Given the description of an element on the screen output the (x, y) to click on. 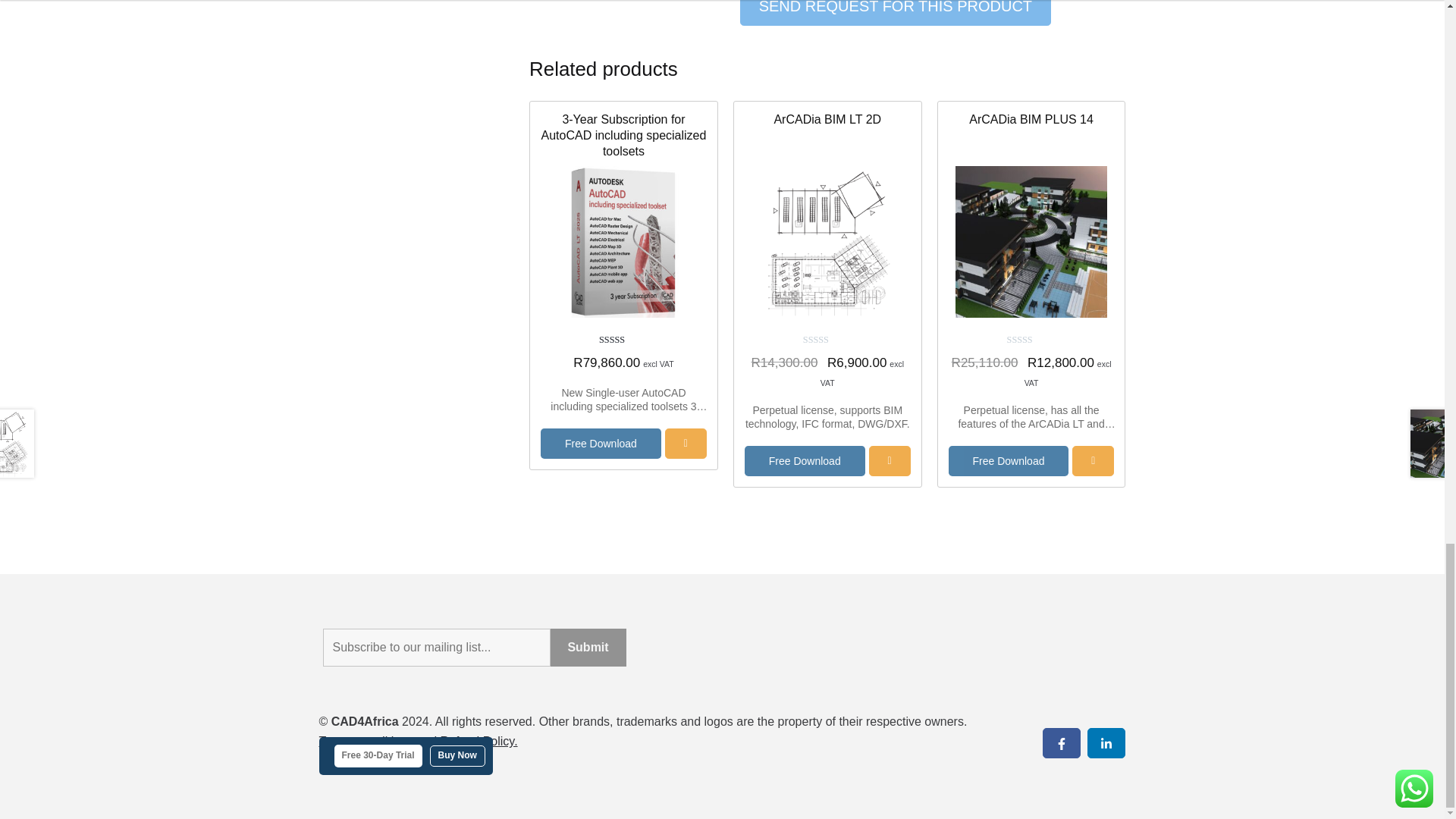
Submit (588, 647)
Rated 5.00 out of 5 (622, 340)
